Given the description of an element on the screen output the (x, y) to click on. 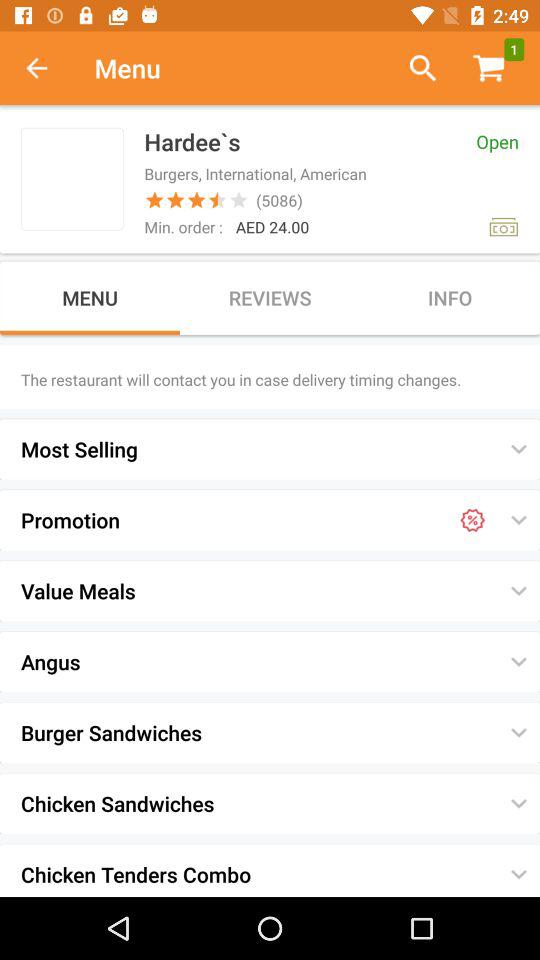
click on the arrow beside chicken sandwiches (518, 803)
